Given the description of an element on the screen output the (x, y) to click on. 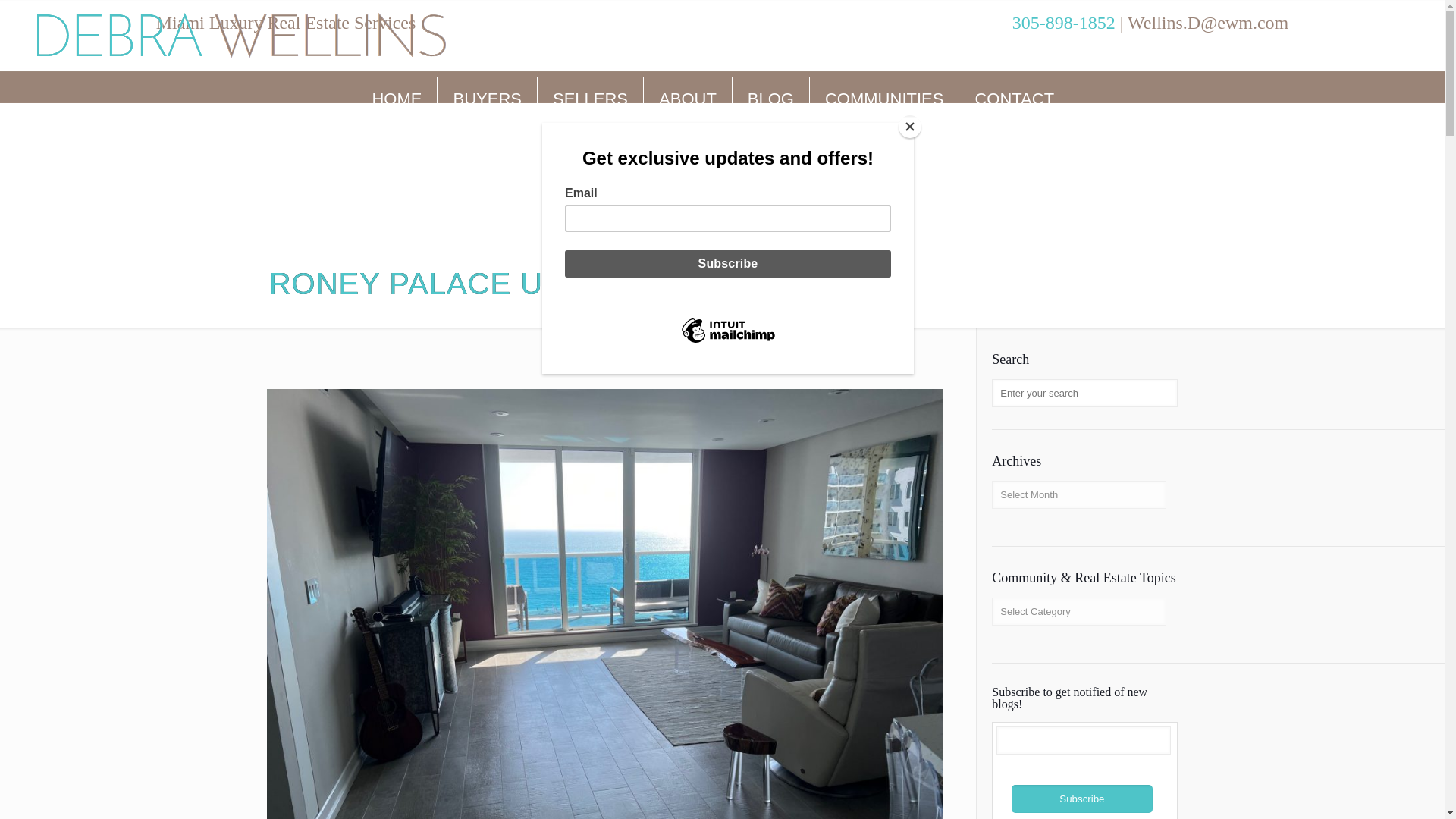
ABOUT (687, 99)
BUYERS (487, 99)
Subscribe (1082, 798)
HOME (397, 99)
SELLERS (590, 99)
BLOG (770, 99)
